Given the description of an element on the screen output the (x, y) to click on. 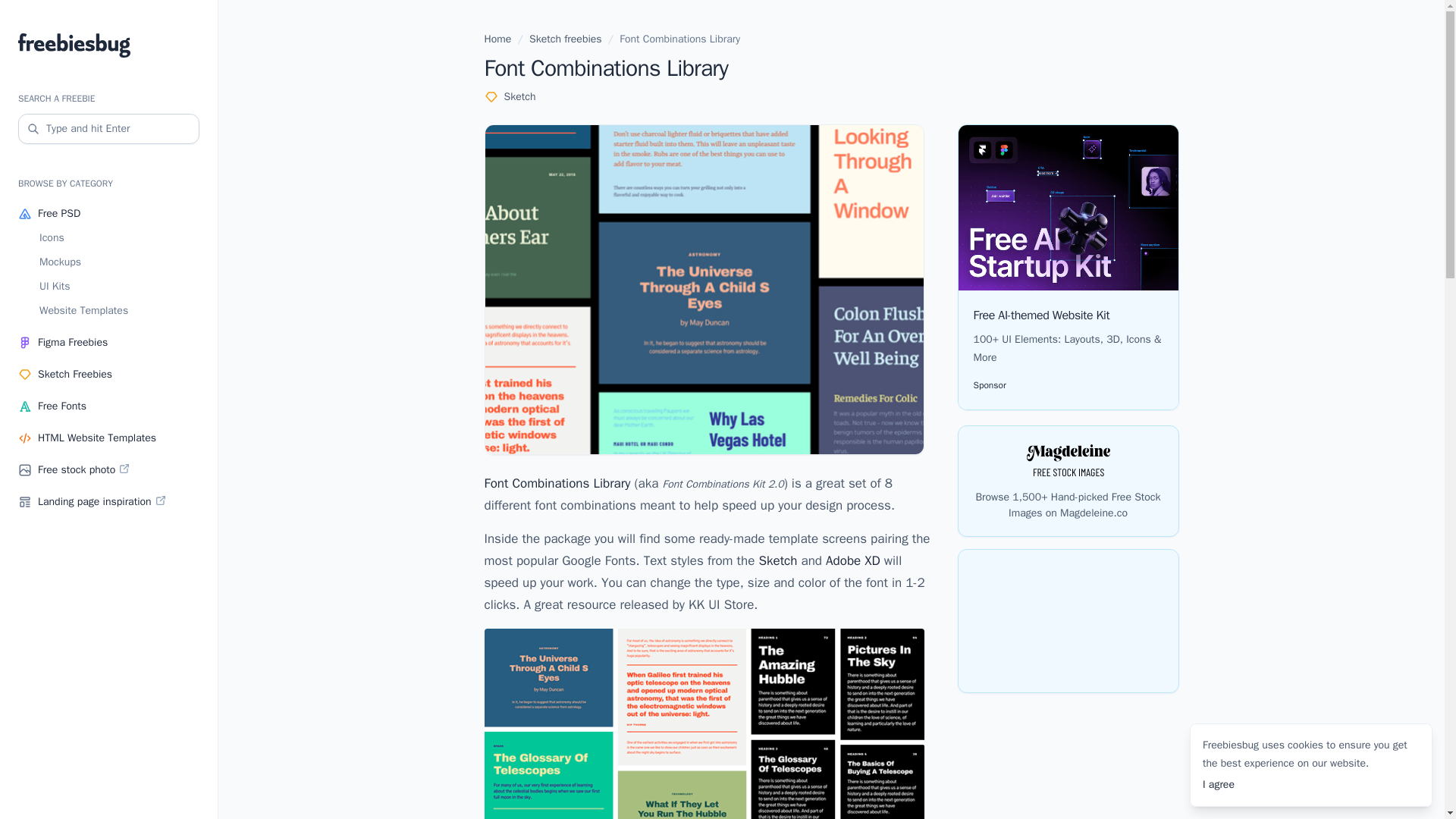
Sketch Freebies (108, 374)
Free Fonts (108, 406)
Freebiesbug (108, 45)
Mockups (119, 262)
Free stock photo (108, 470)
Home (497, 38)
Website Templates (119, 311)
Free AI-themed Website Kit (1042, 314)
HTML Website Templates (108, 438)
Figma Freebies (108, 342)
I agree (1218, 784)
Free PSD (108, 214)
UI Kits (119, 286)
Landing page inspiration (108, 501)
Icons (119, 238)
